Given the description of an element on the screen output the (x, y) to click on. 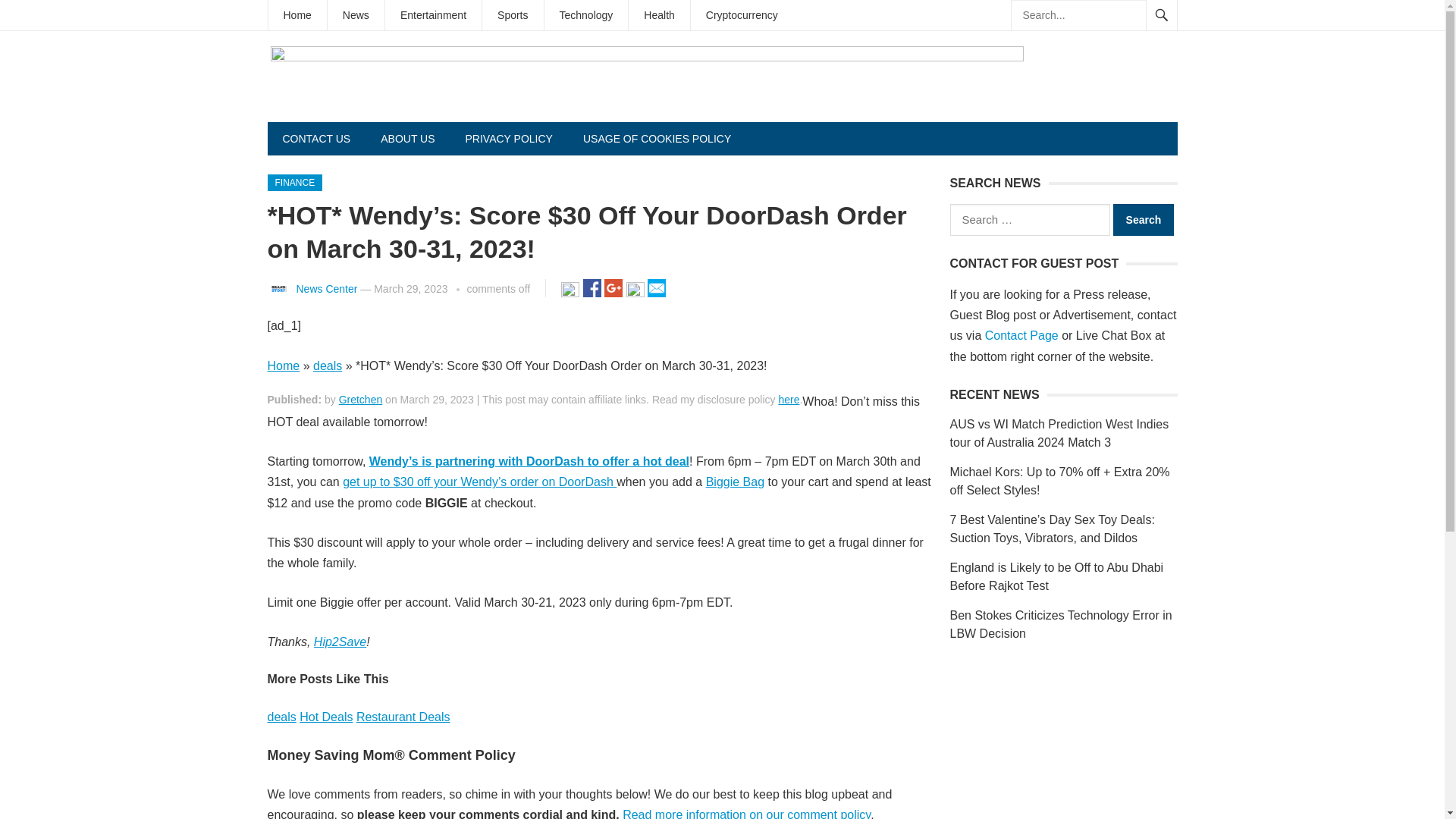
Cryptocurrency (741, 15)
Home (282, 365)
USAGE OF COOKIES POLICY (656, 138)
News (355, 15)
FINANCE (293, 182)
Home (296, 15)
ABOUT US (407, 138)
Sports (512, 15)
PRIVACY POLICY (508, 138)
News Center (325, 288)
